Given the description of an element on the screen output the (x, y) to click on. 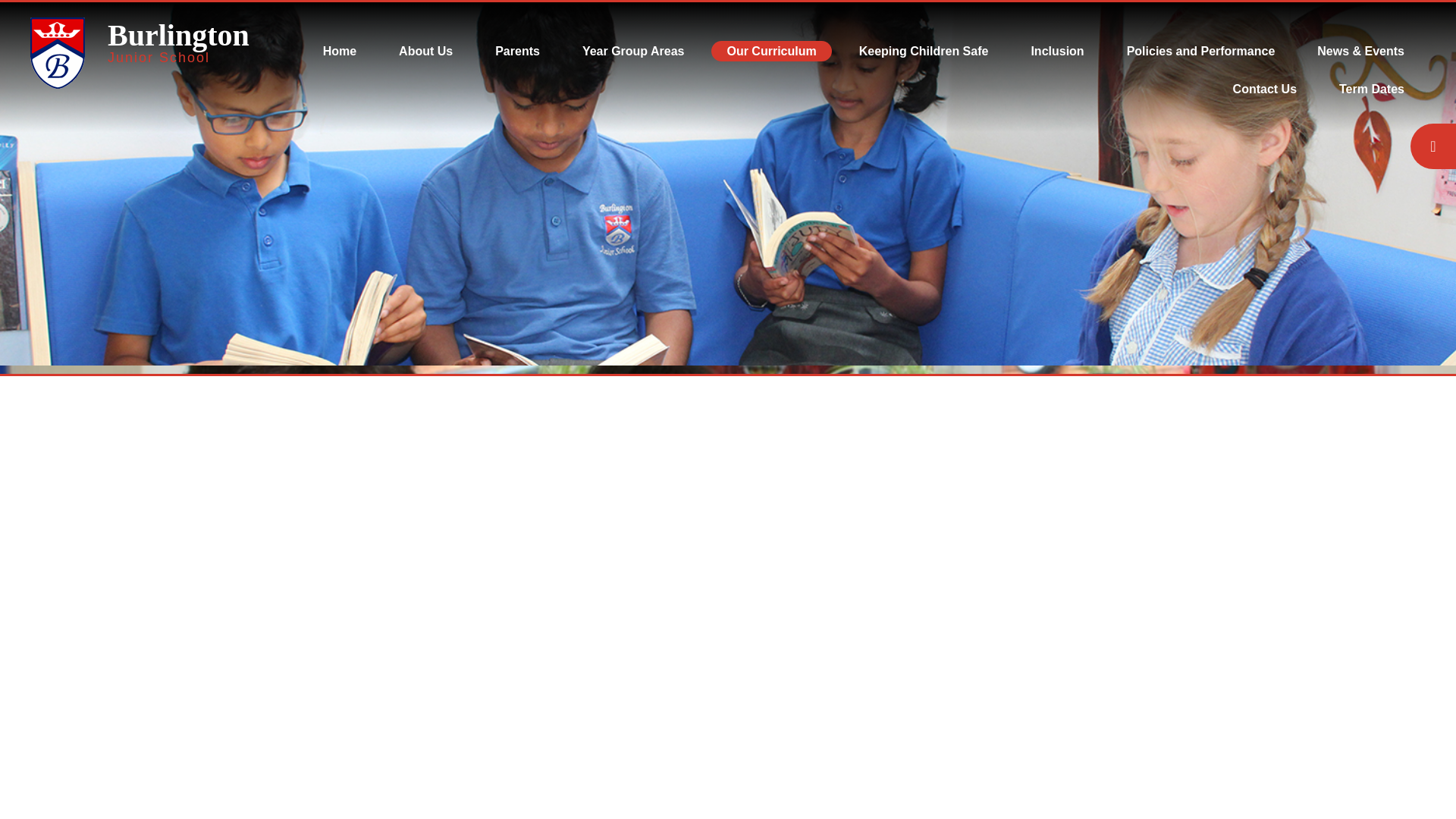
Home (339, 51)
About Us (425, 51)
Parents (177, 39)
